Given the description of an element on the screen output the (x, y) to click on. 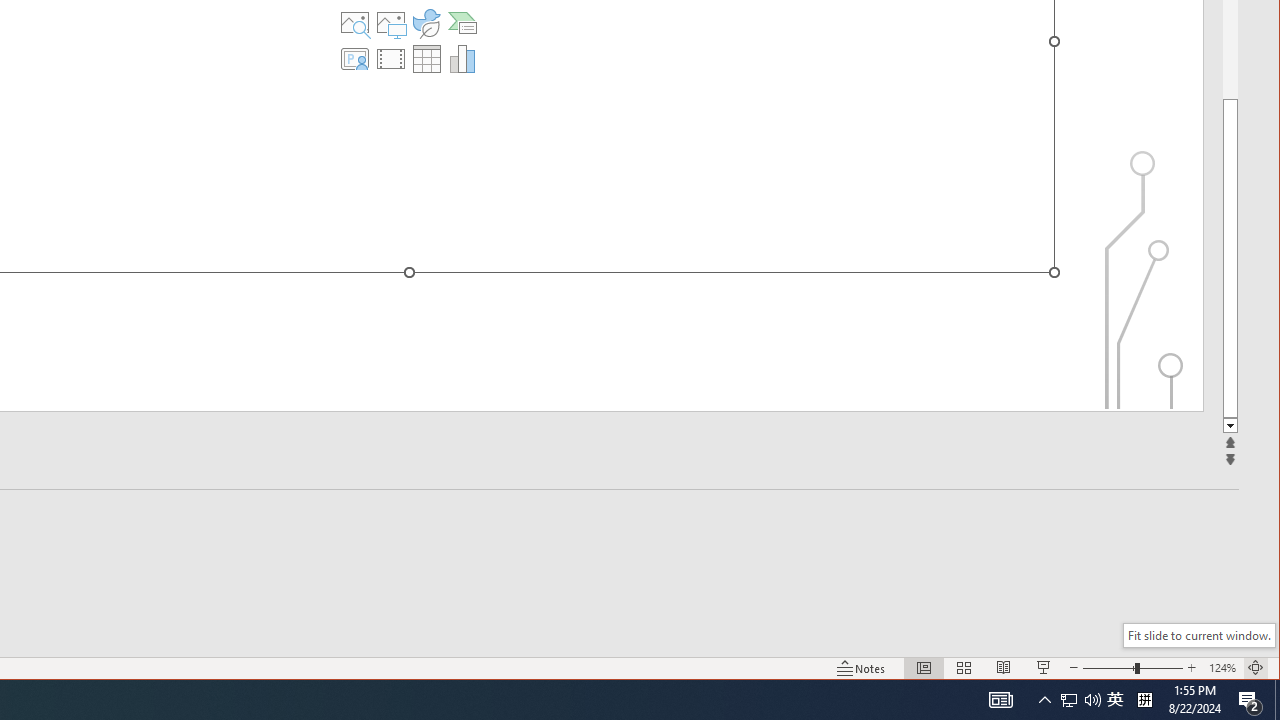
Zoom 124% (1222, 668)
